Given the description of an element on the screen output the (x, y) to click on. 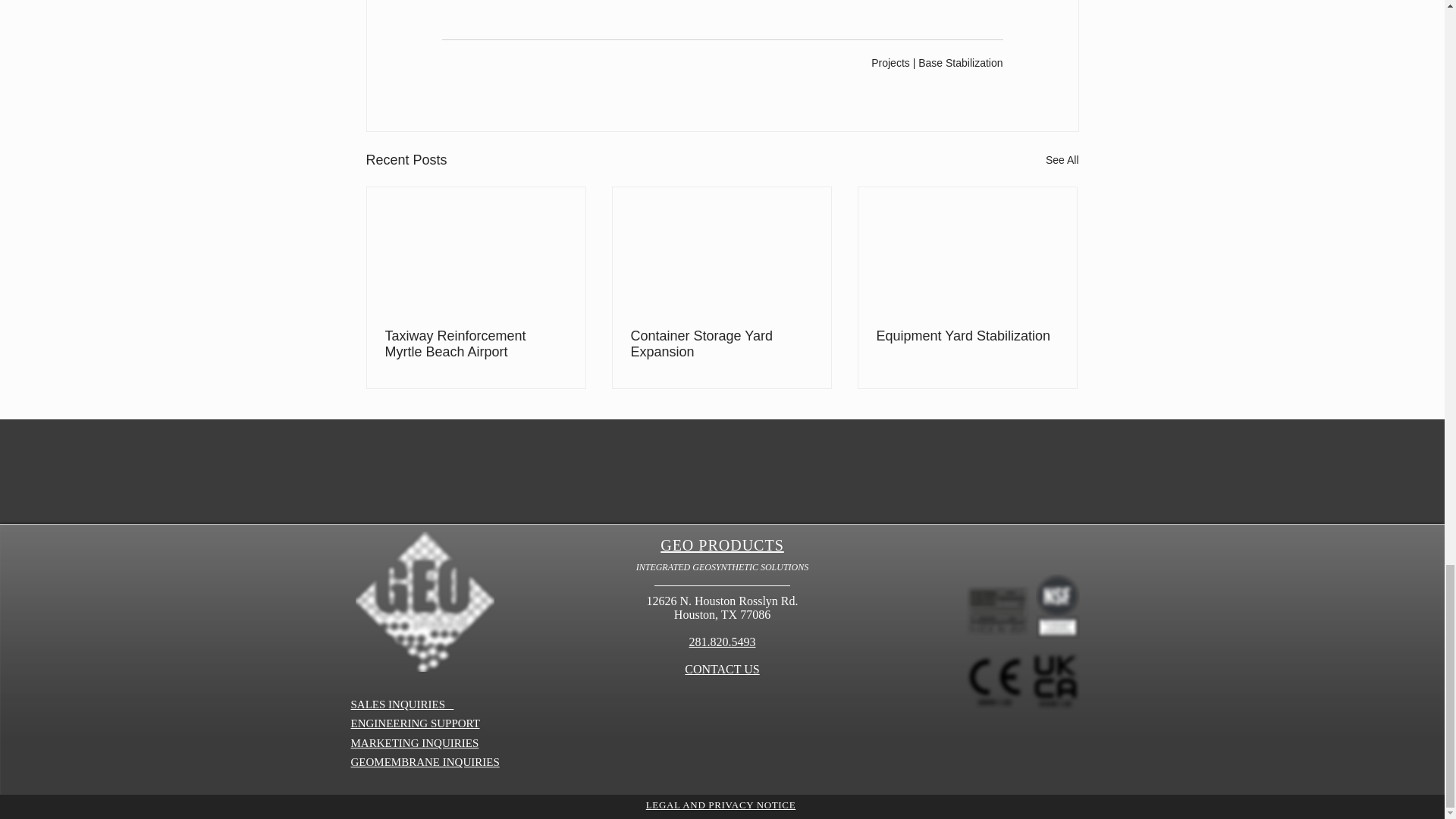
Geo Products Made in USA.png (996, 612)
Geo Products UKCA.png (1053, 680)
Geo Products CE.png (993, 680)
See All (1061, 160)
Taxiway Reinforcement Myrtle Beach Airport (476, 344)
